Given the description of an element on the screen output the (x, y) to click on. 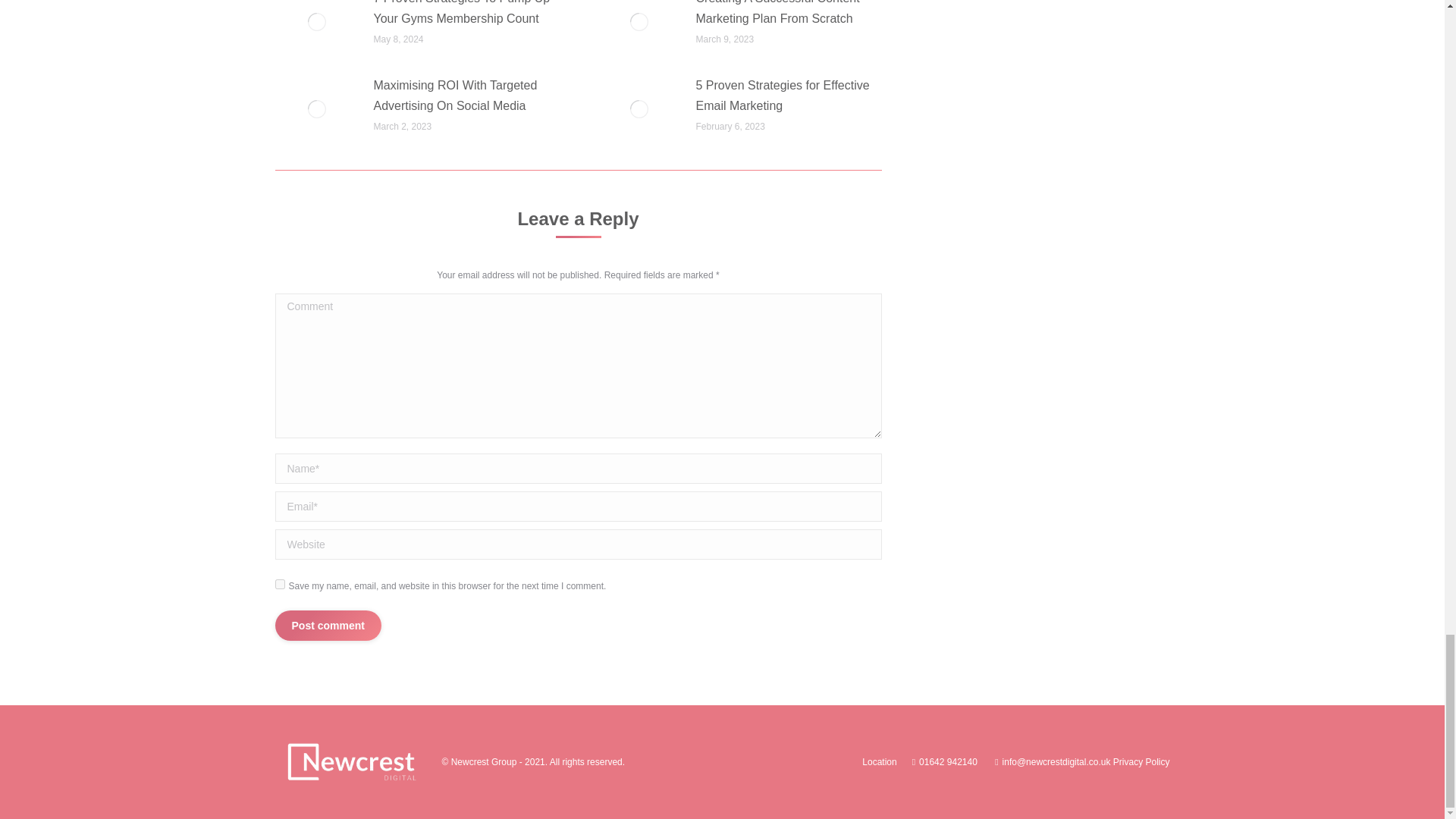
yes (279, 583)
